Given the description of an element on the screen output the (x, y) to click on. 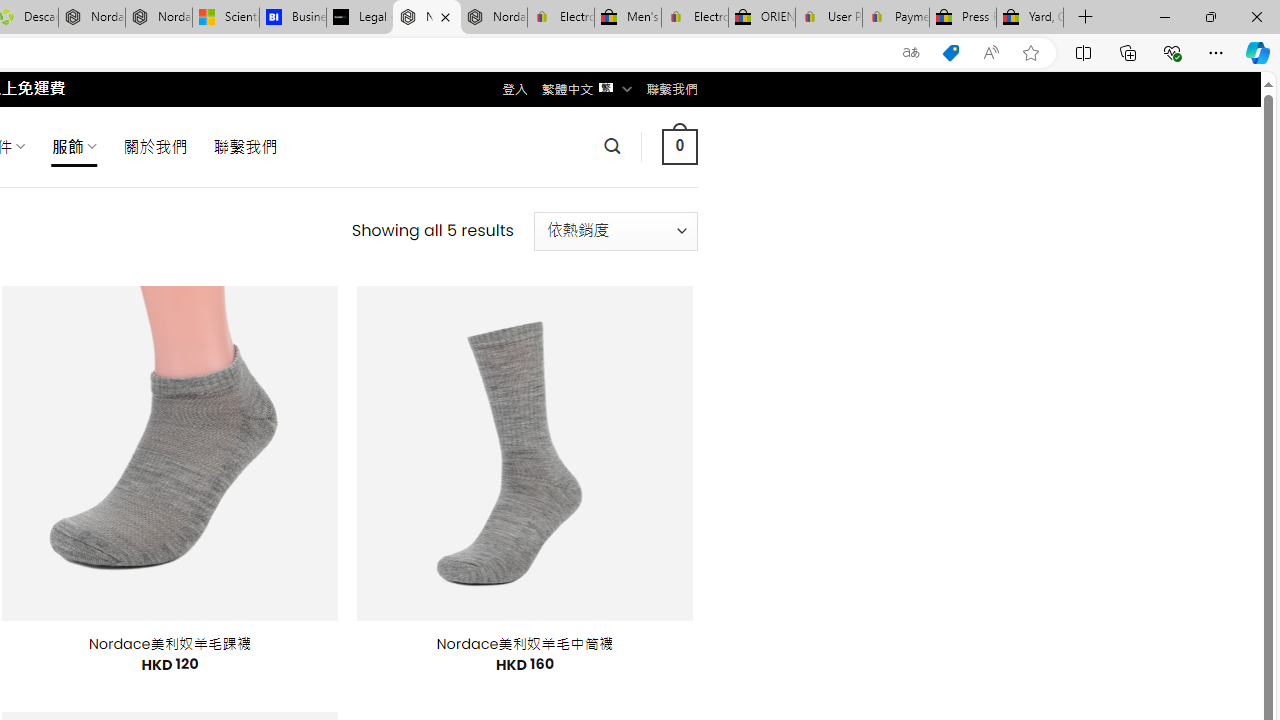
User Privacy Notice | eBay (828, 17)
Show translate options (910, 53)
